Given the description of an element on the screen output the (x, y) to click on. 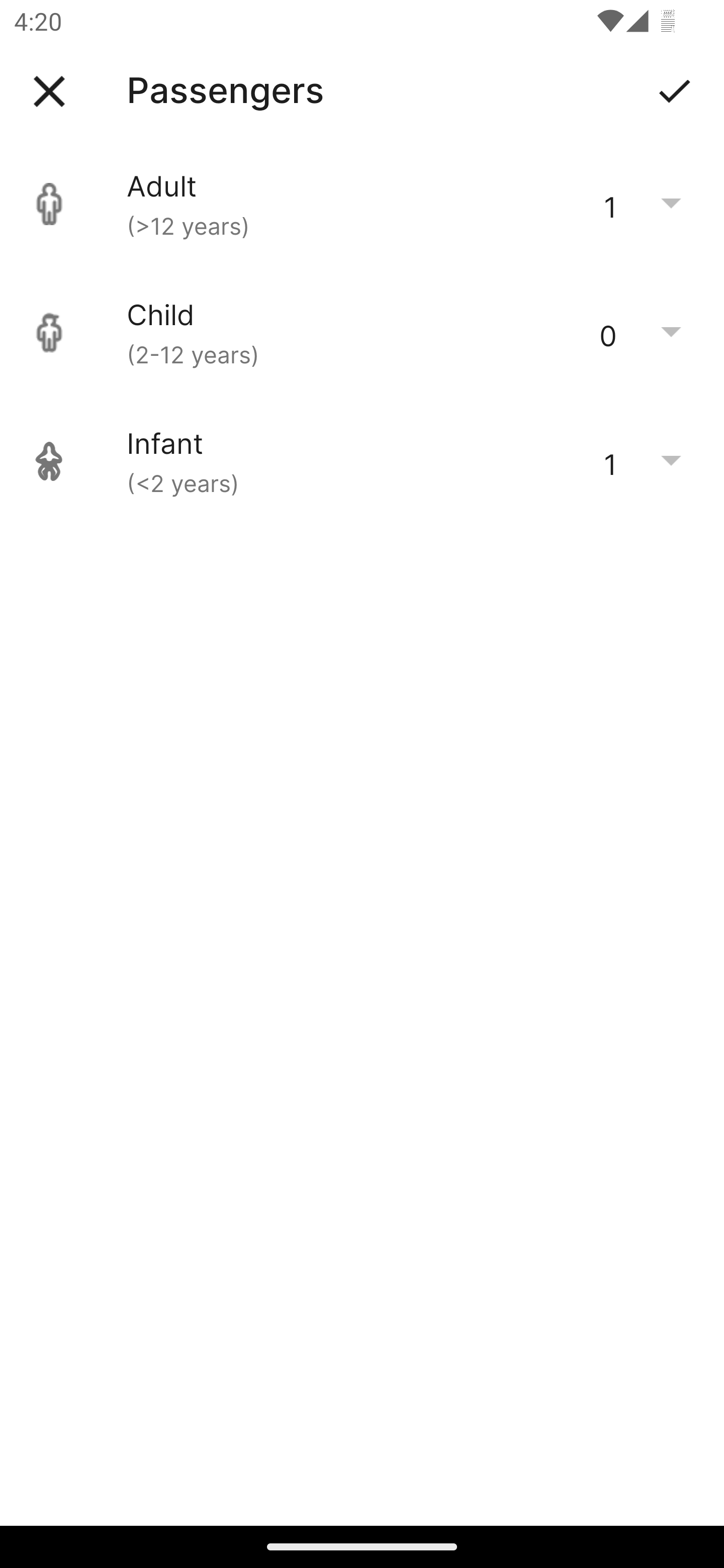
Adult (>12 years) 1 (362, 204)
Child (2-12 years) 0 (362, 332)
Infant (<2 years) 1 (362, 461)
